Given the description of an element on the screen output the (x, y) to click on. 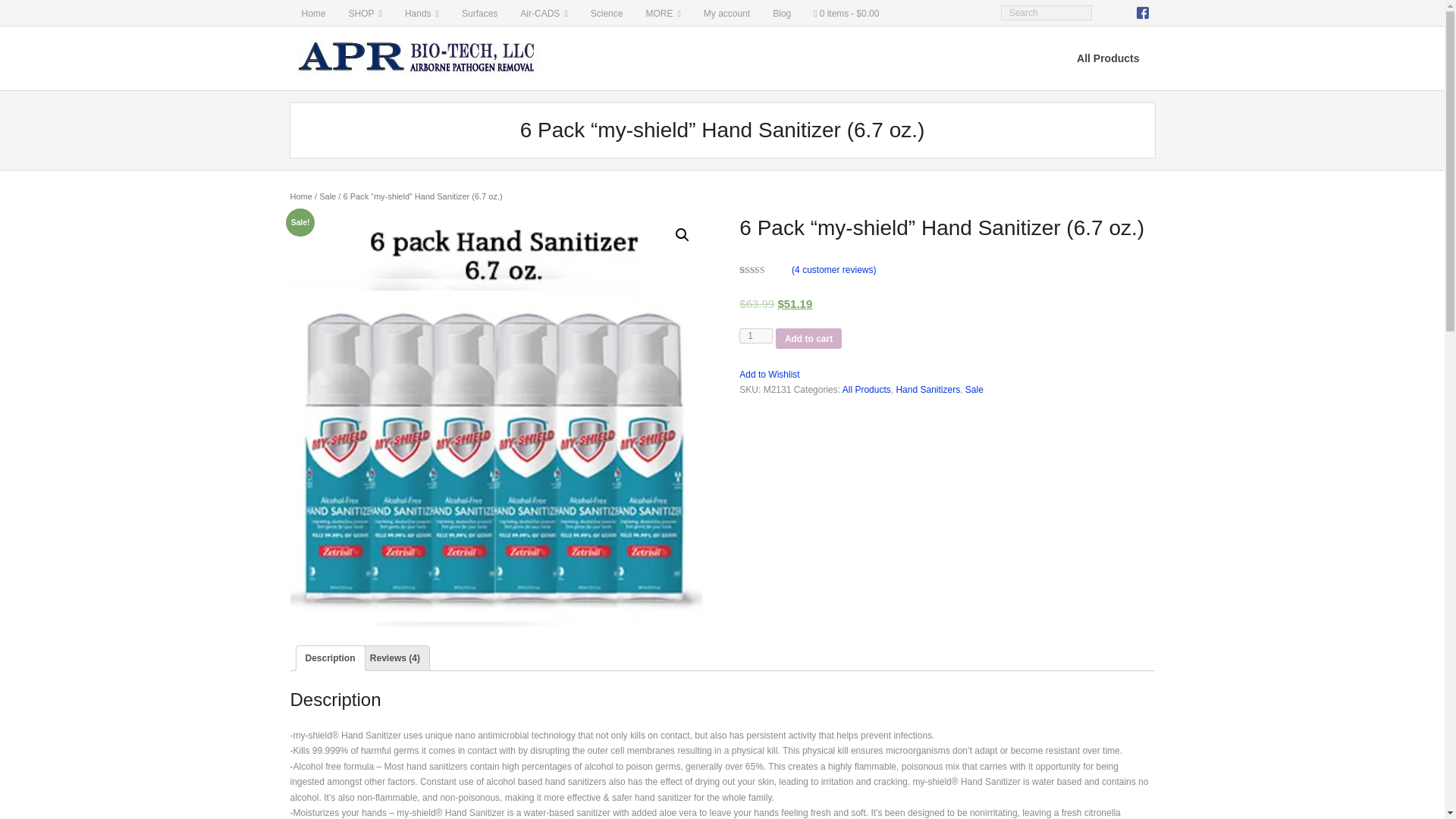
Science (606, 12)
Blog (781, 12)
Sale (327, 195)
Air-CADS (543, 12)
Search (25, 10)
Surfaces (478, 12)
Home (312, 12)
Hands (421, 12)
SHOP (365, 12)
My account (727, 12)
1 (756, 335)
Home (300, 195)
MORE (662, 12)
All Products (1107, 58)
